Given the description of an element on the screen output the (x, y) to click on. 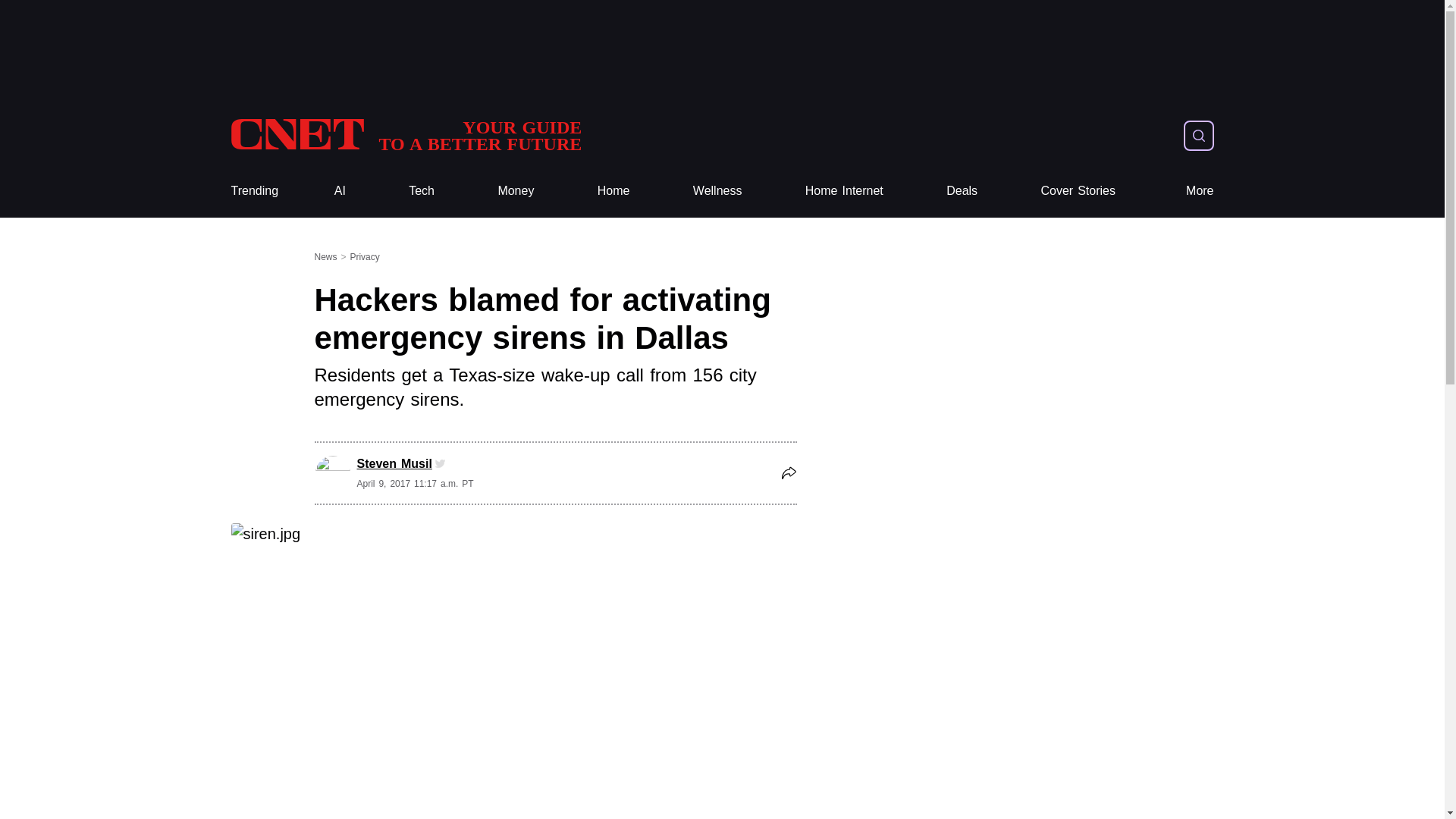
Home (613, 190)
Trending (254, 190)
Cover Stories (1078, 190)
Home Internet (405, 135)
Money (844, 190)
Money (515, 190)
Tech (515, 190)
Trending (421, 190)
Home (254, 190)
Home Internet (613, 190)
Wellness (844, 190)
Wellness (717, 190)
CNET (717, 190)
More (405, 135)
